Given the description of an element on the screen output the (x, y) to click on. 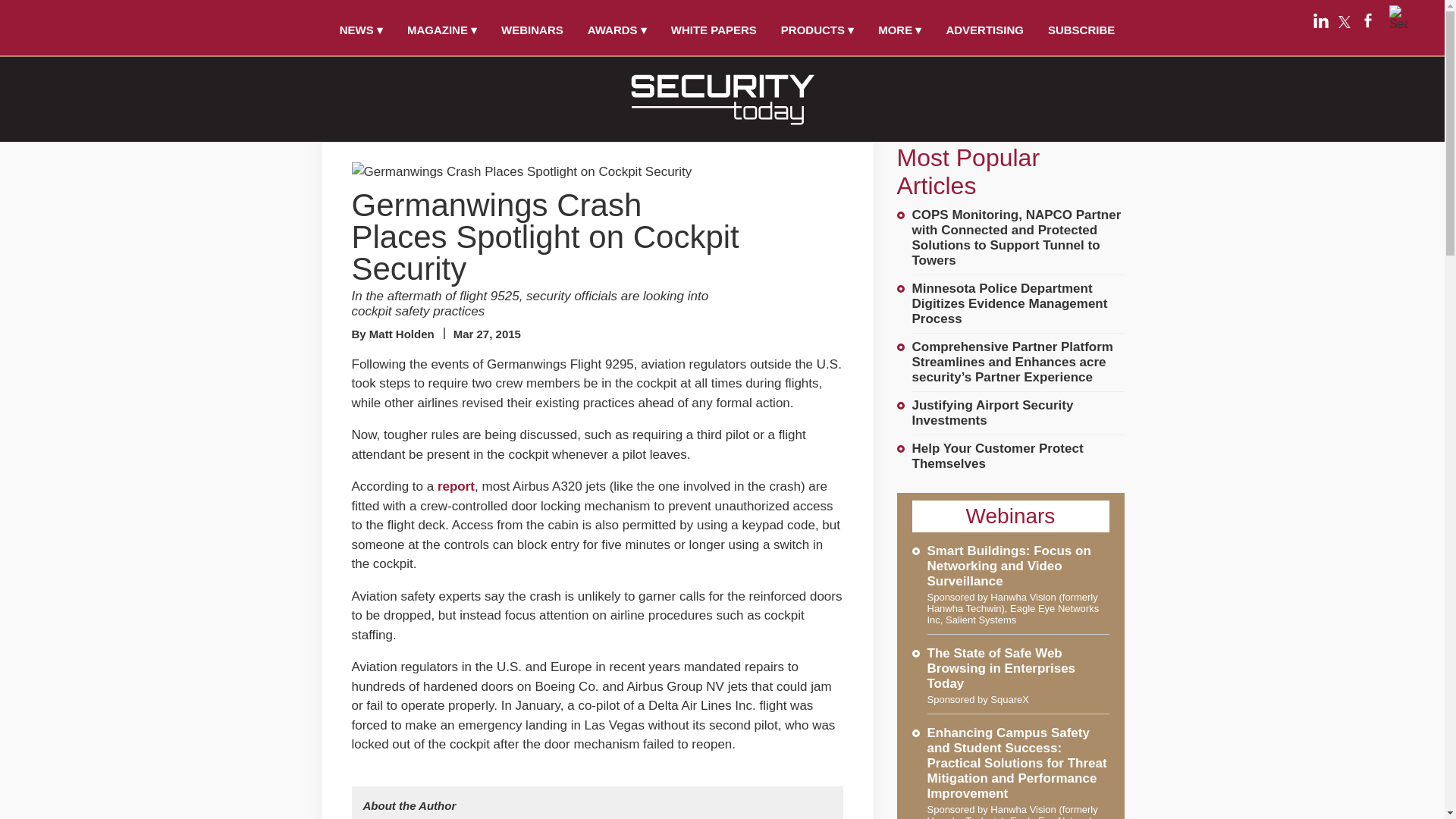
WEBINARS (531, 29)
WHITE PAPERS (714, 29)
